Given the description of an element on the screen output the (x, y) to click on. 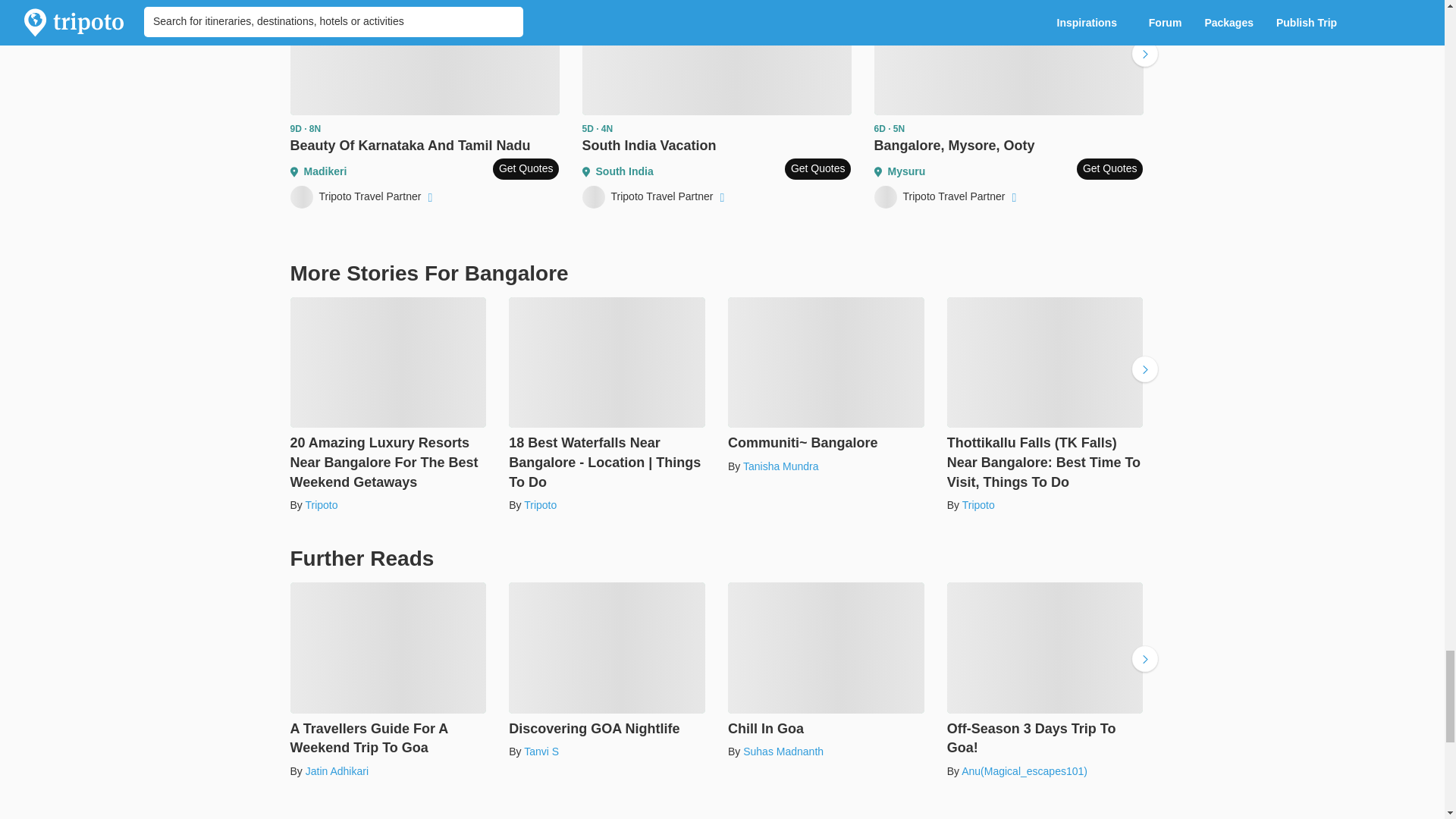
Get Quotes (526, 168)
Tripoto Travel Partner (362, 196)
Tripoto Travel Partner (655, 196)
Get Quotes (817, 168)
